Given the description of an element on the screen output the (x, y) to click on. 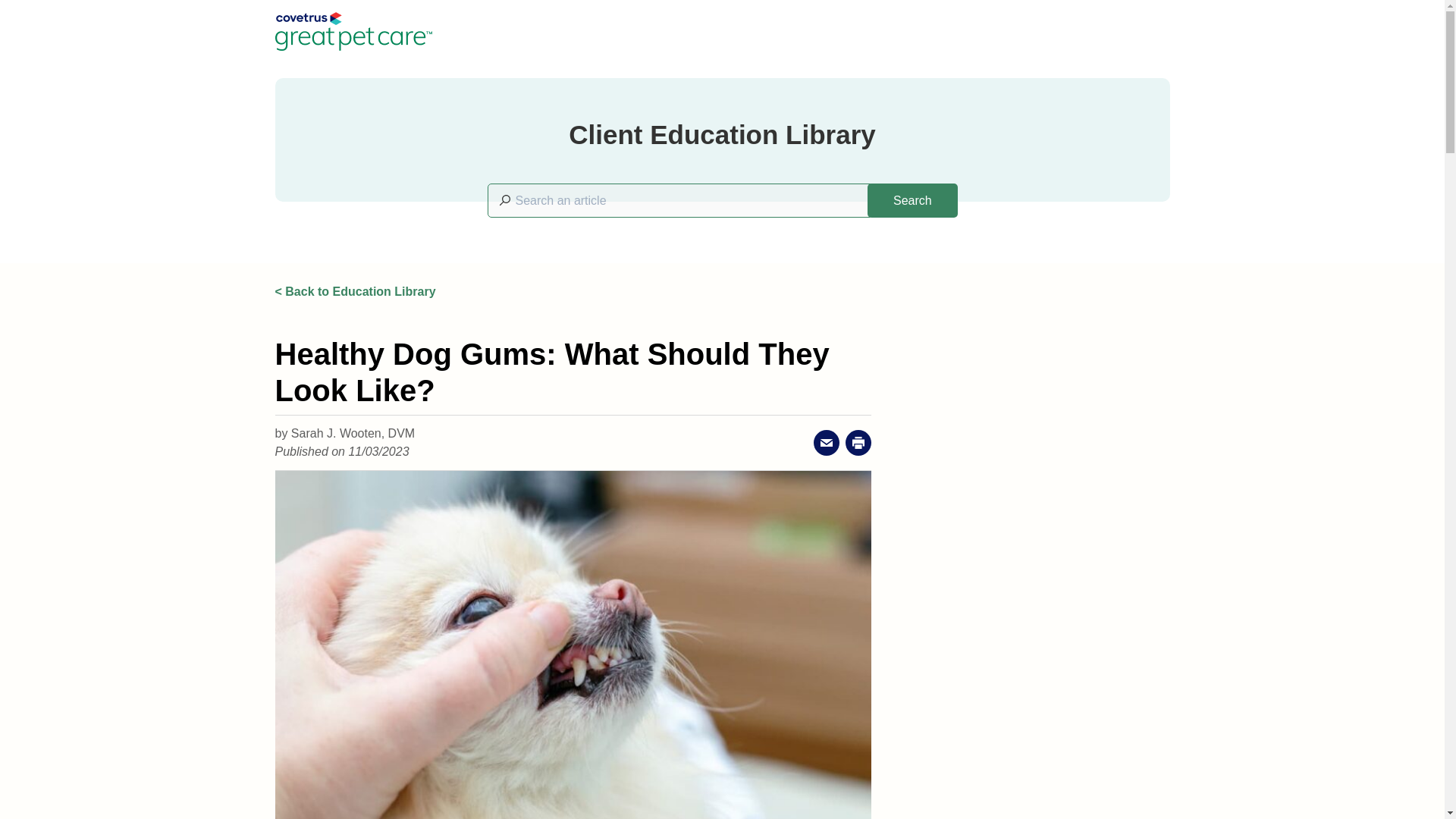
Share via email (826, 442)
Print (857, 442)
Email (826, 442)
Search (911, 200)
Print (857, 442)
